Given the description of an element on the screen output the (x, y) to click on. 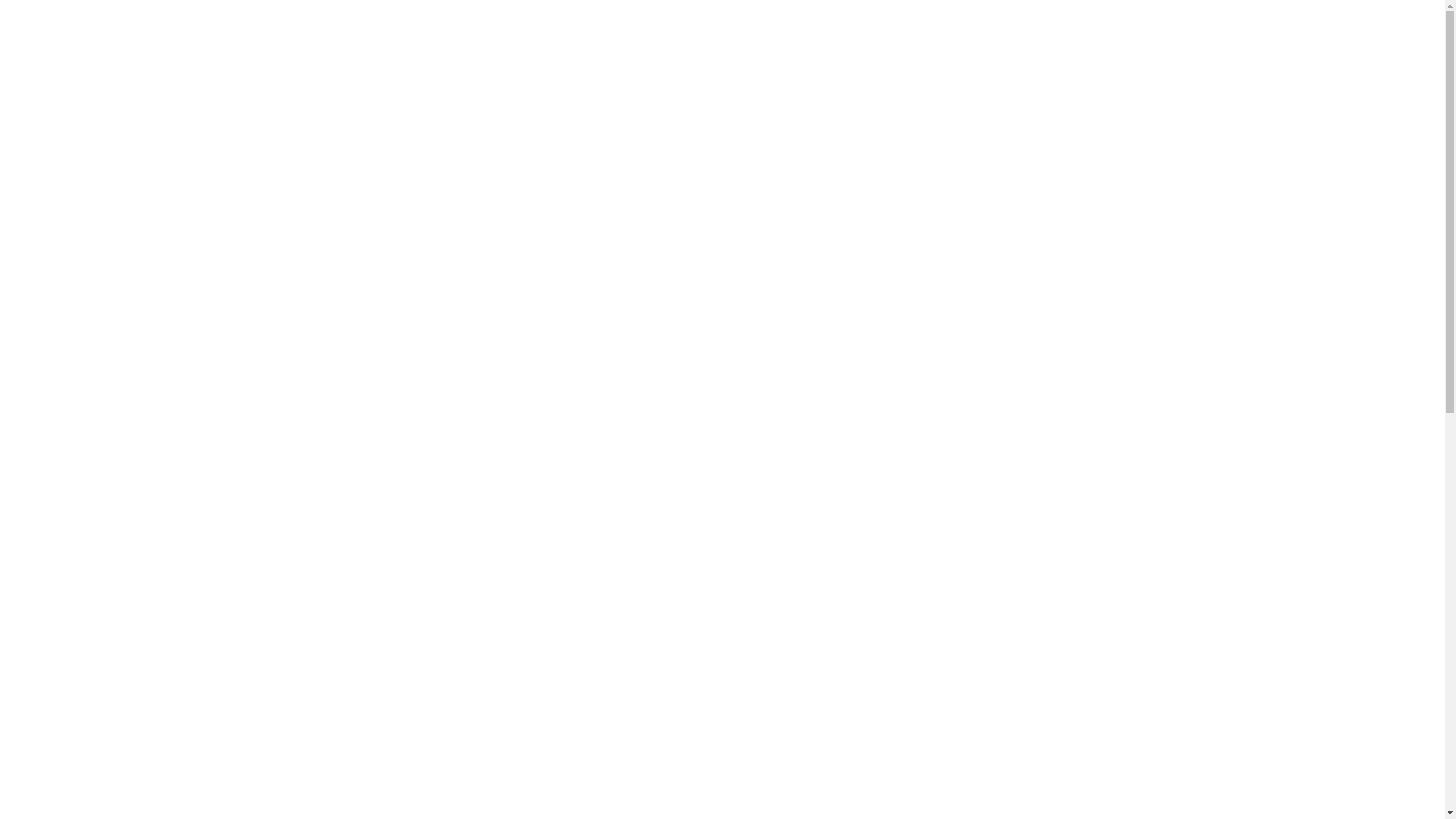
EXELECT Element type: text (749, 101)
admin Element type: text (338, 698)
HOME Element type: text (320, 306)
JUN
07 Element type: text (498, 519)
QUALITY ASSURANCE SPECIALIST Element type: text (868, 674)
admin Element type: text (782, 698)
STOFEXPLOSIES Element type: text (420, 101)
Dutch Element type: hover (1019, 29)
HOME Element type: text (323, 101)
Dutch Element type: hover (1032, 28)
JUN
07 Element type: text (942, 519)
CONSULTING Element type: text (843, 101)
info@adinex.be Element type: text (851, 49)
GASEXPLOSIES Element type: text (540, 101)
LINKS Element type: text (1009, 101)
OPLEIDINGEN Element type: text (652, 101)
CREDIT ASSESSMENT MANAGER Element type: text (417, 674)
CONTACT Element type: text (939, 101)
